Given the description of an element on the screen output the (x, y) to click on. 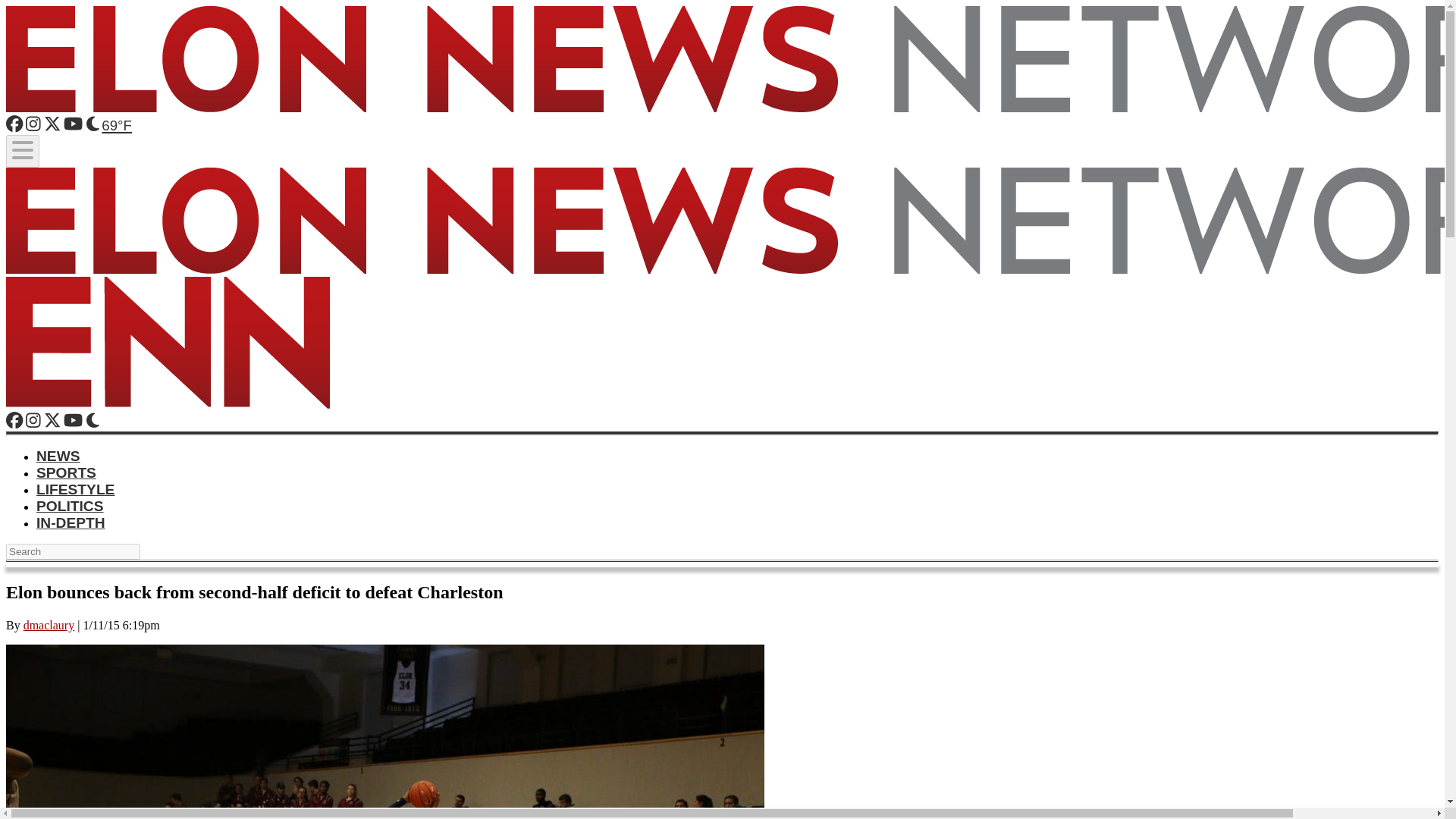
LIFESTYLE (75, 489)
dmaclaury (49, 625)
POLITICS (69, 505)
NEWS (58, 455)
IN-DEPTH (70, 522)
SPORTS (66, 472)
